Given the description of an element on the screen output the (x, y) to click on. 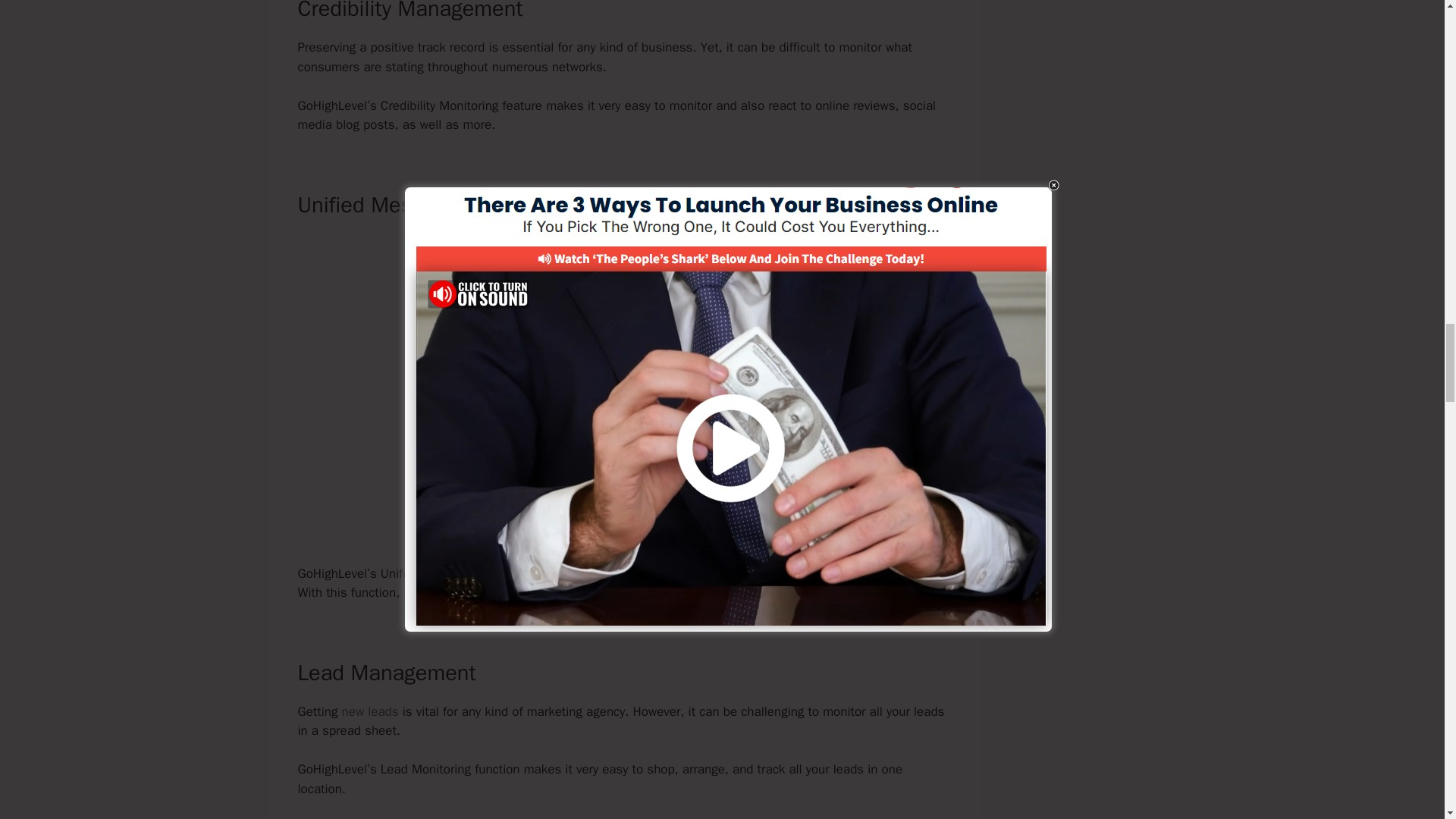
YouTube video player (622, 353)
new leads (370, 711)
Grab Your GoHighLevel Free Account Here (622, 521)
